Given the description of an element on the screen output the (x, y) to click on. 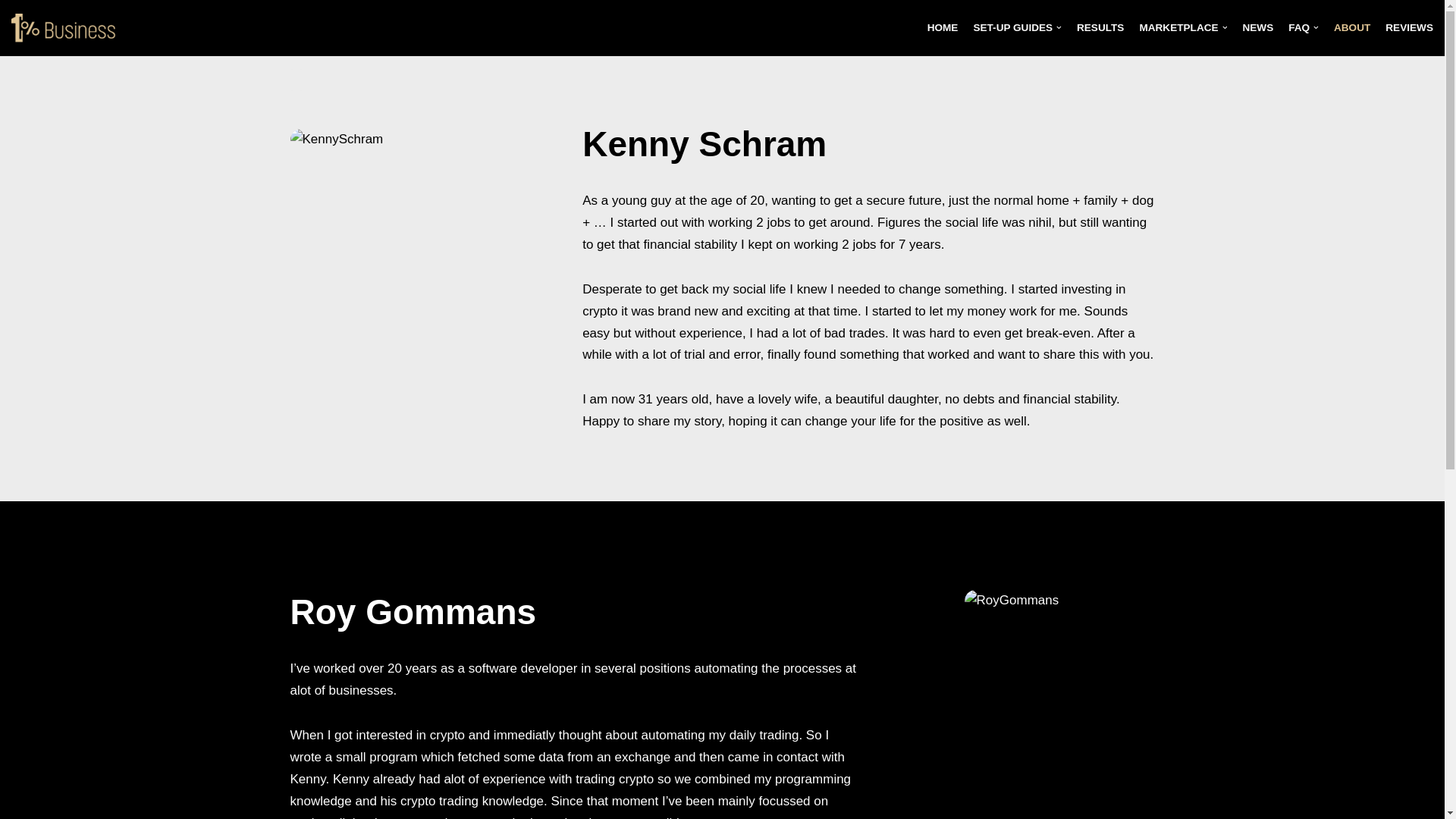
NEWS Element type: text (1257, 27)
SET-UP GUIDES Element type: text (1016, 27)
REVIEWS Element type: text (1409, 27)
FAQ Element type: text (1303, 27)
RESULTS Element type: text (1099, 27)
MARKETPLACE Element type: text (1182, 27)
1%Business Element type: hover (68, 27)
Skip to content Element type: text (11, 31)
HOME Element type: text (942, 27)
ABOUT Element type: text (1351, 27)
